Given the description of an element on the screen output the (x, y) to click on. 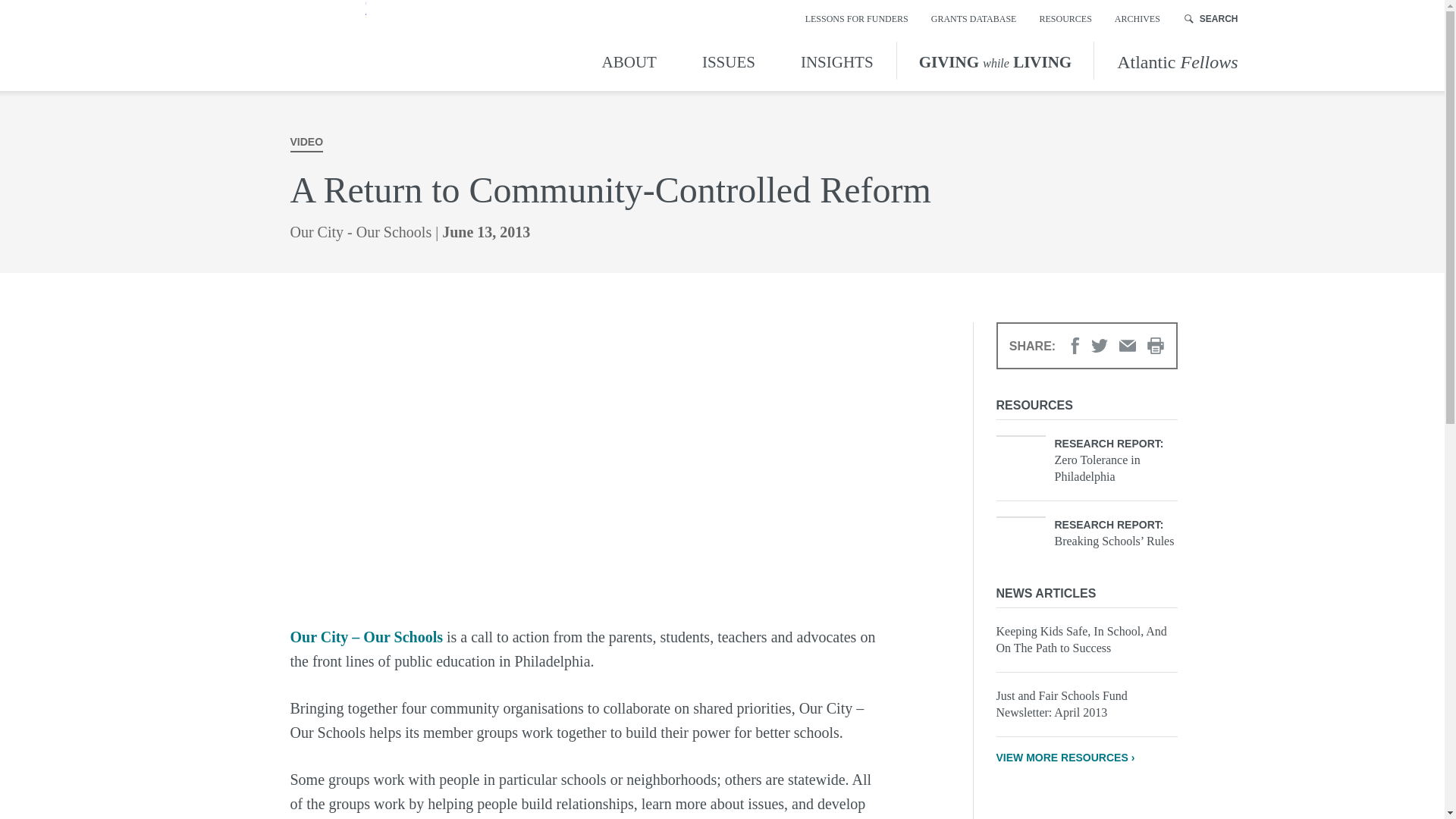
RESOURCES (1064, 18)
SEARCH (1212, 18)
ISSUES (728, 60)
LESSONS FOR FUNDERS (856, 18)
ARCHIVES (1137, 18)
GRANTS DATABASE (973, 18)
The Atlantic Philanthropies (277, 45)
A Return to Community-Controlled Reform (531, 458)
Skip to main content (14, 14)
ABOUT (632, 60)
